Given the description of an element on the screen output the (x, y) to click on. 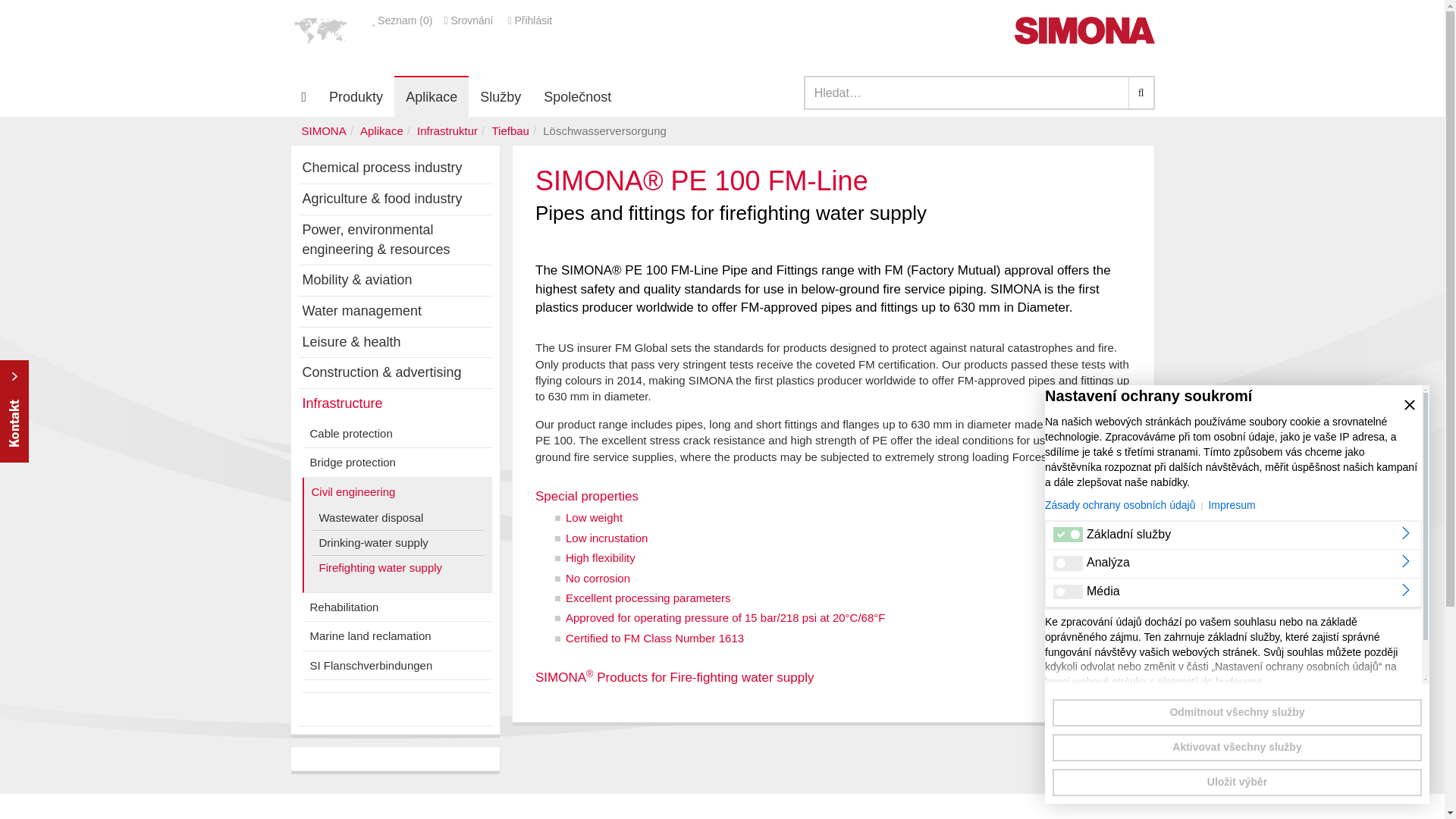
on (1067, 534)
Produkty (355, 96)
on (1067, 591)
on (1067, 563)
Aplikace (431, 96)
